Given the description of an element on the screen output the (x, y) to click on. 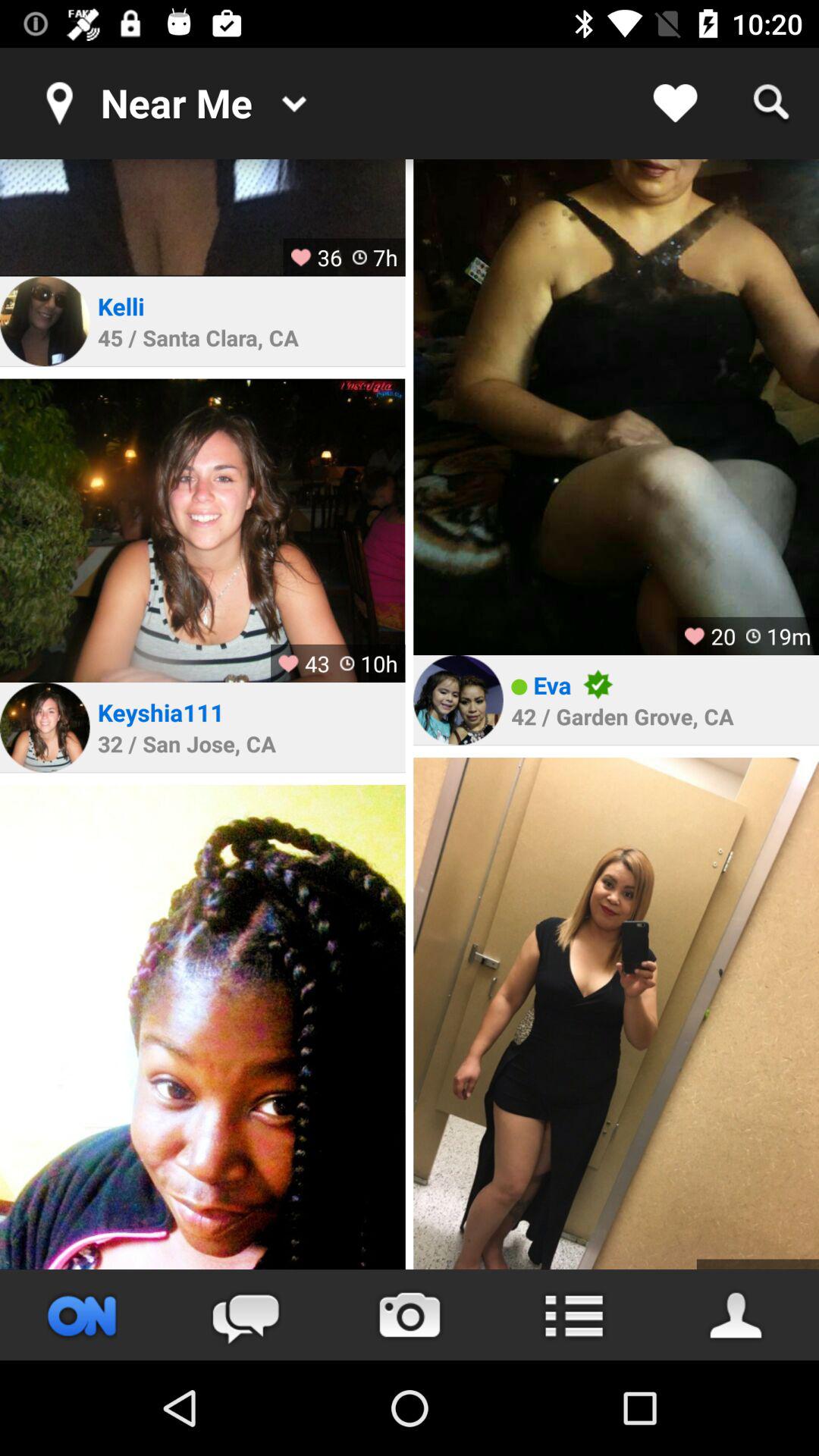
camera (409, 1315)
